Given the description of an element on the screen output the (x, y) to click on. 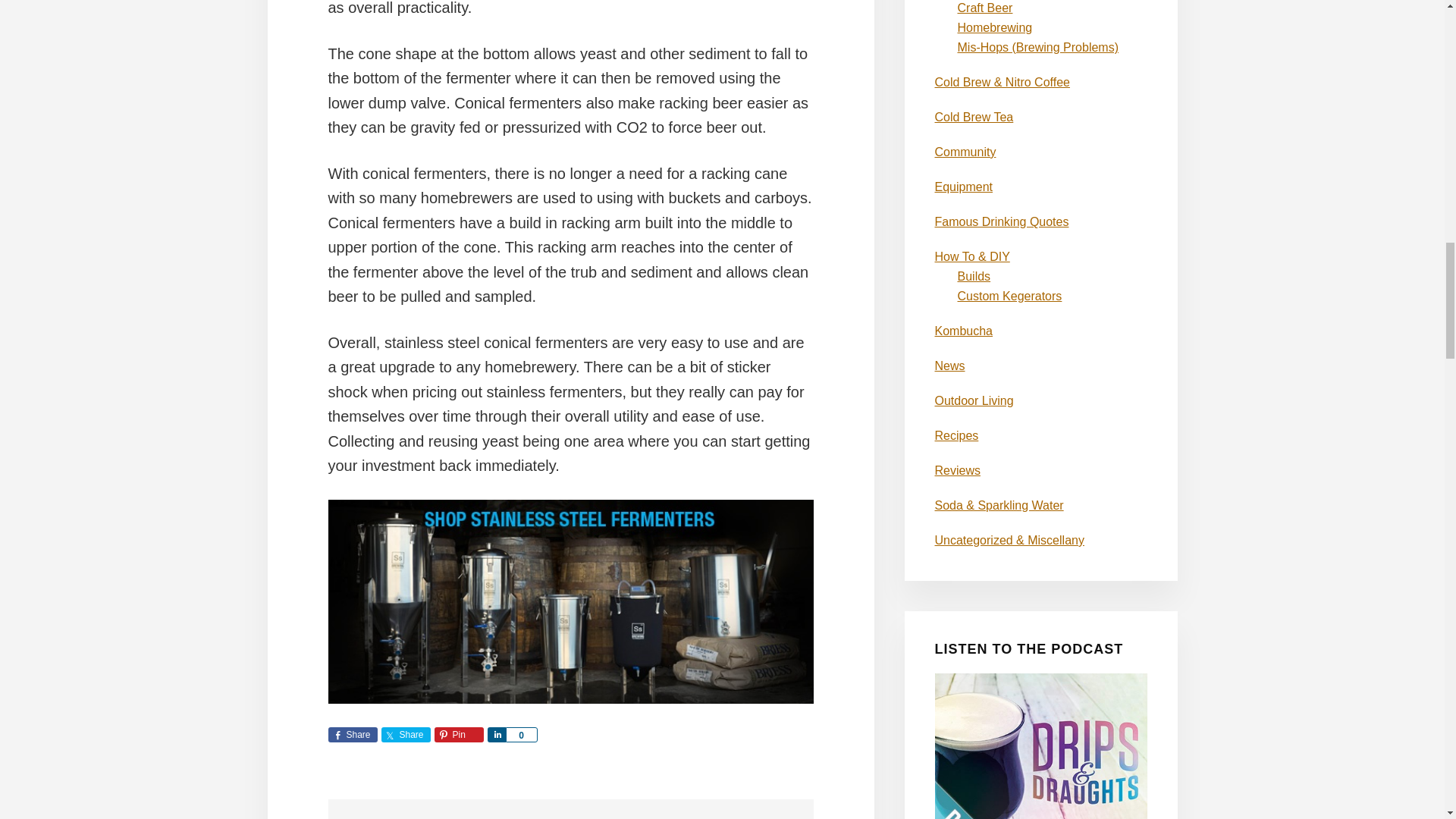
Share (495, 734)
Pin (458, 734)
0 (521, 734)
Share (352, 734)
Share (404, 734)
